Given the description of an element on the screen output the (x, y) to click on. 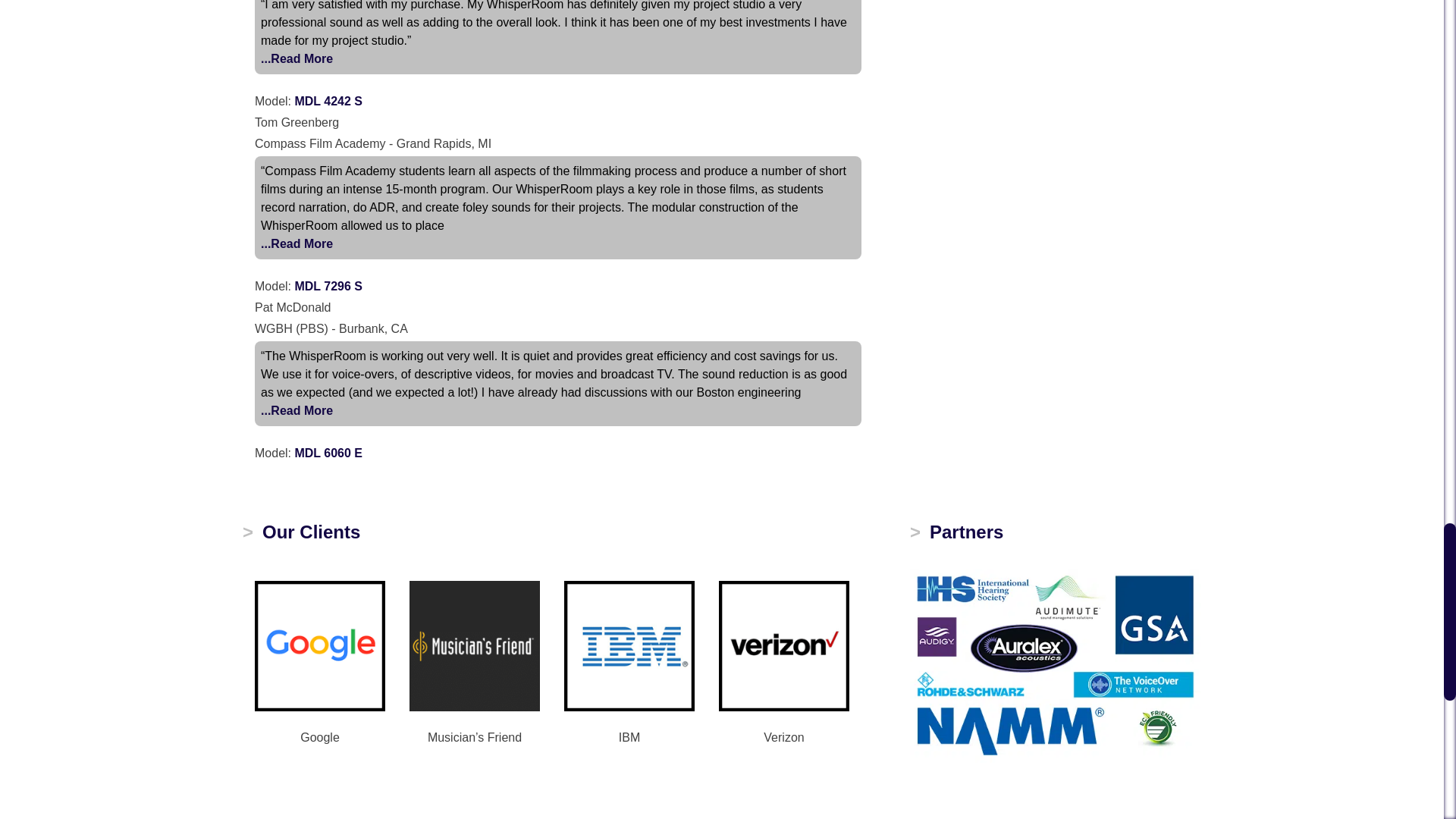
Pat McDonald (296, 411)
Verizon (783, 645)
Tom Greenberg (296, 244)
Sonny Carson (296, 58)
IBM (628, 645)
Google (320, 645)
